Given the description of an element on the screen output the (x, y) to click on. 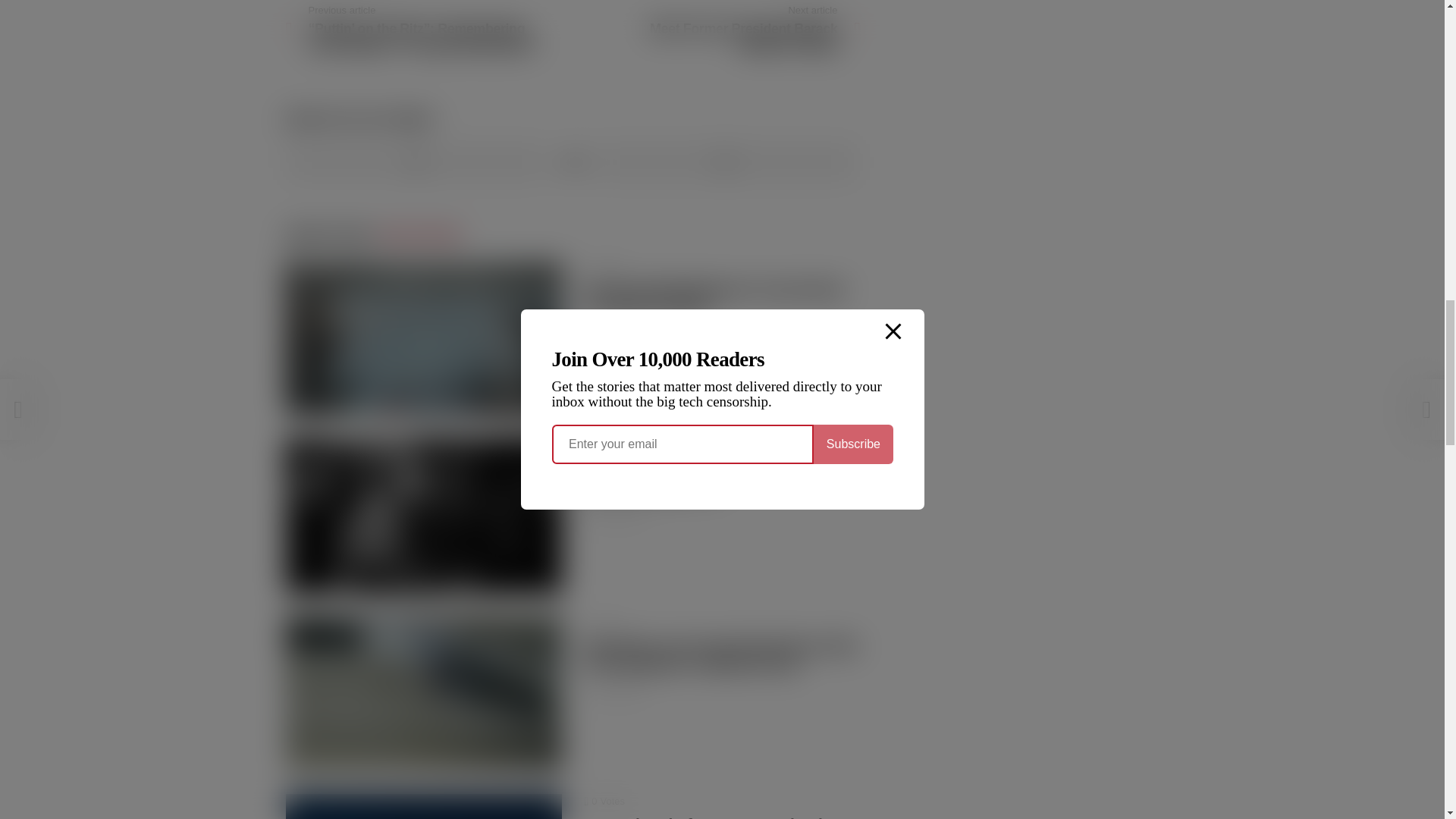
Boening Whistleblower Found Dead In South Carolina (422, 336)
Four Injured After Boston School Bus Slams Into House (422, 806)
March 11, 2024, 5:46 pm (613, 691)
March 12, 2024, 11:33 am (613, 512)
Upvote (416, 162)
March 12, 2024, 11:46 am (613, 335)
Iconic Singer And Rocker Eric Carmen Dead At 74 (422, 514)
Downvote (725, 162)
